Given the description of an element on the screen output the (x, y) to click on. 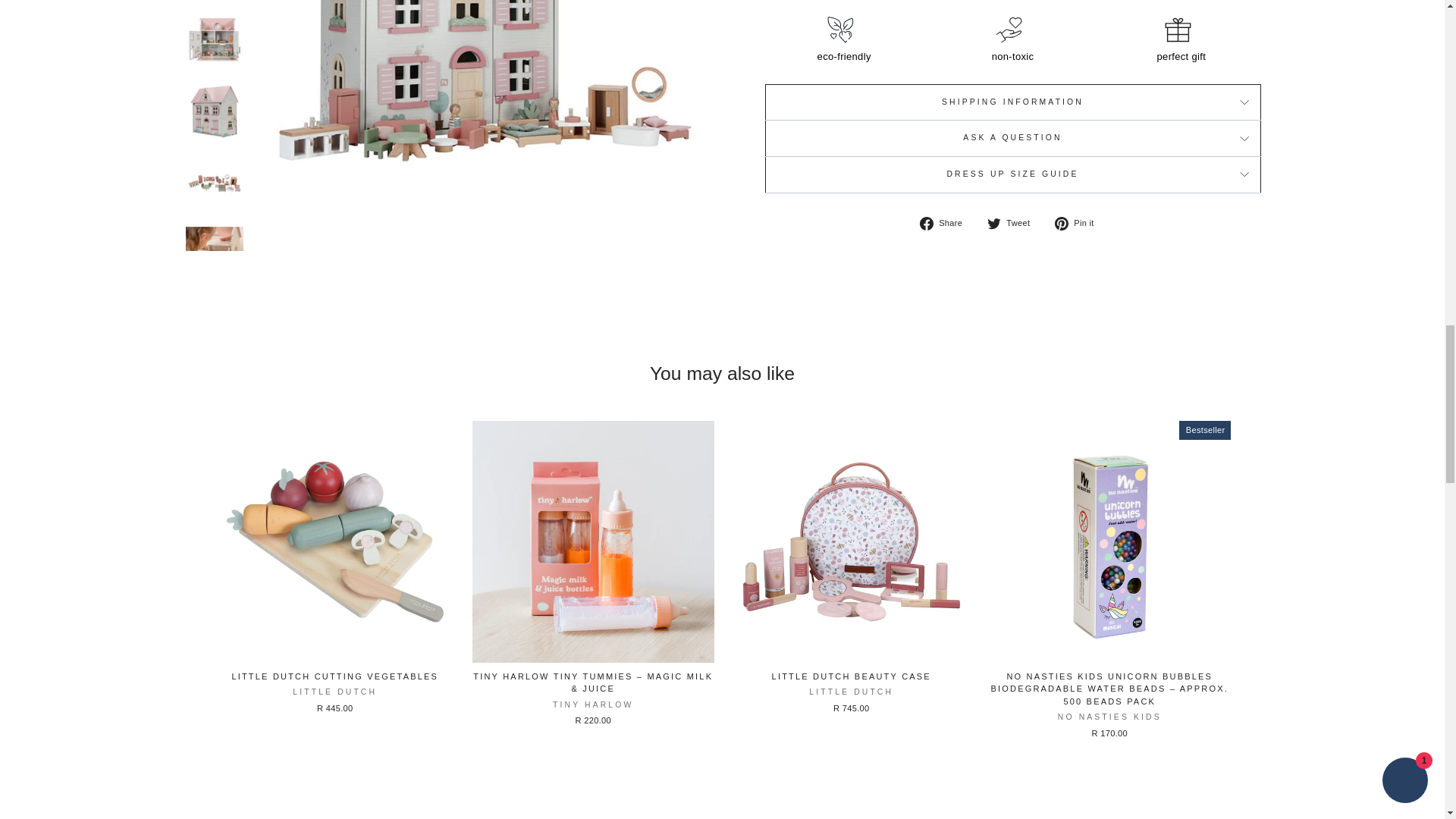
Tweet on Twitter (1014, 223)
Share on Facebook (947, 223)
Pin on Pinterest (1079, 223)
